Given the description of an element on the screen output the (x, y) to click on. 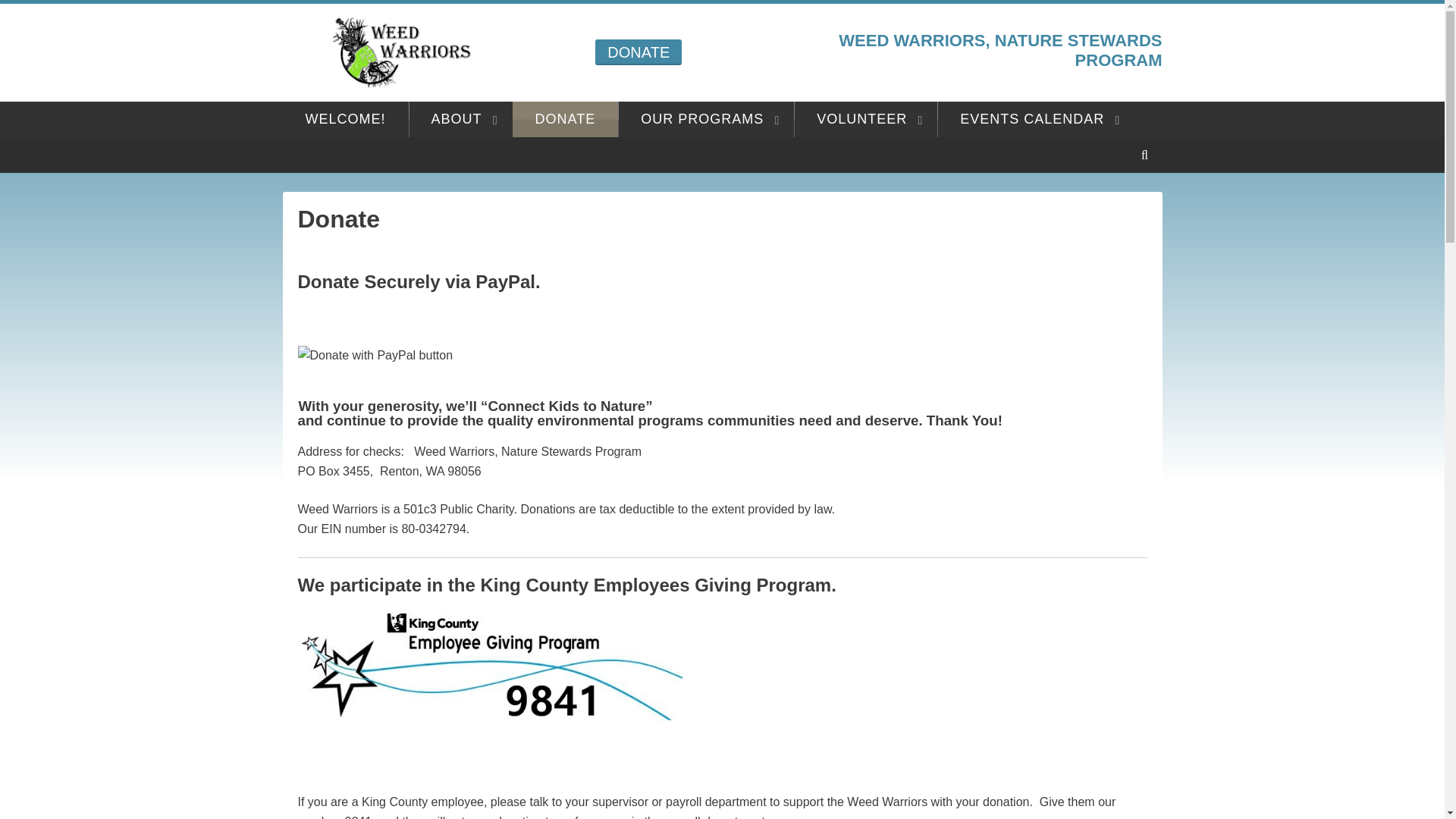
DONATE (565, 119)
WELCOME! (344, 119)
ABOUT (460, 119)
PayPal - The safer, easier way to pay online! (374, 355)
DONATE (638, 52)
OUR PROGRAMS (705, 119)
